Given the description of an element on the screen output the (x, y) to click on. 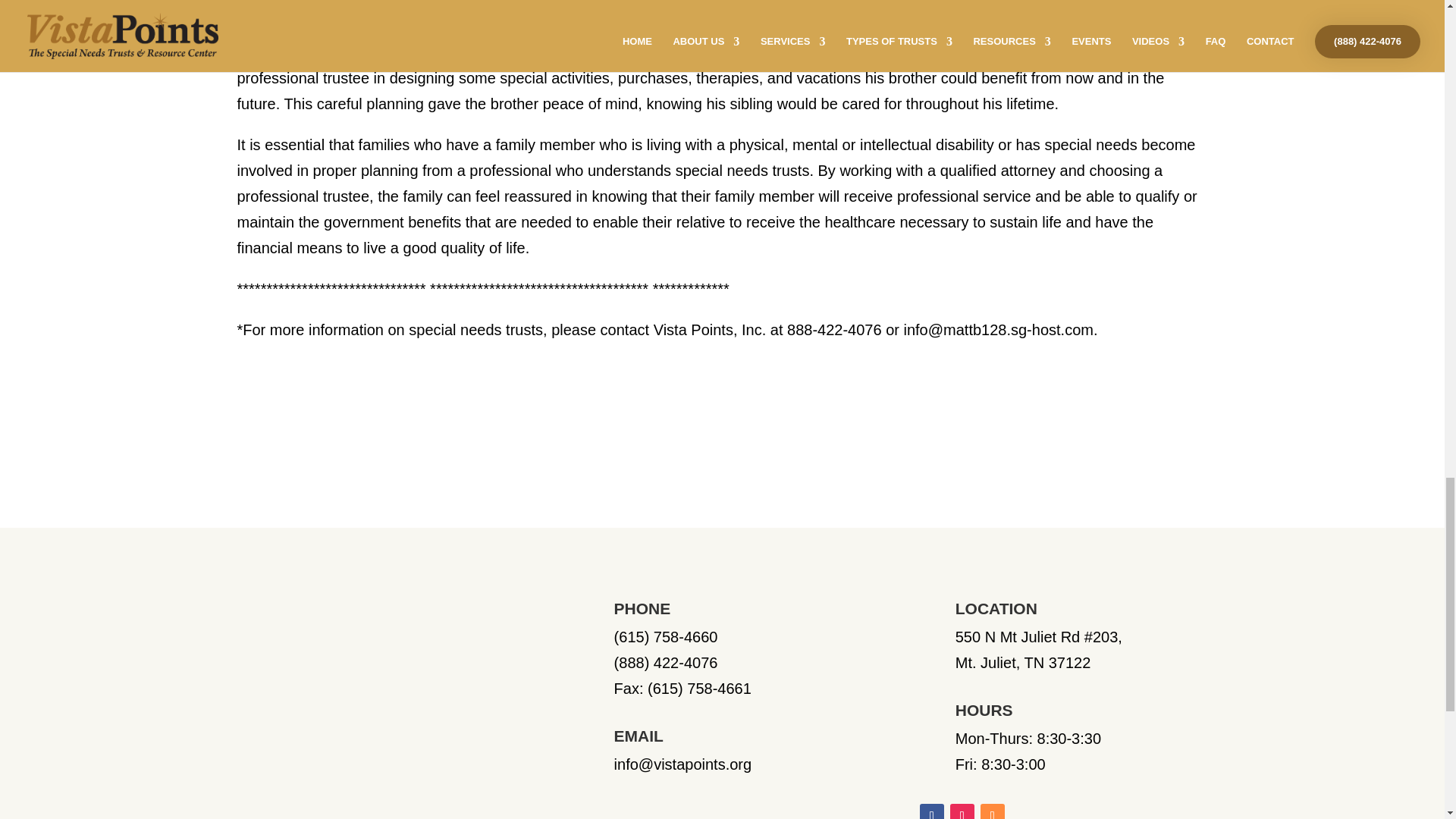
Follow on Facebook (931, 811)
Follow on Instagram (962, 811)
Follow on RSS (991, 811)
